Given the description of an element on the screen output the (x, y) to click on. 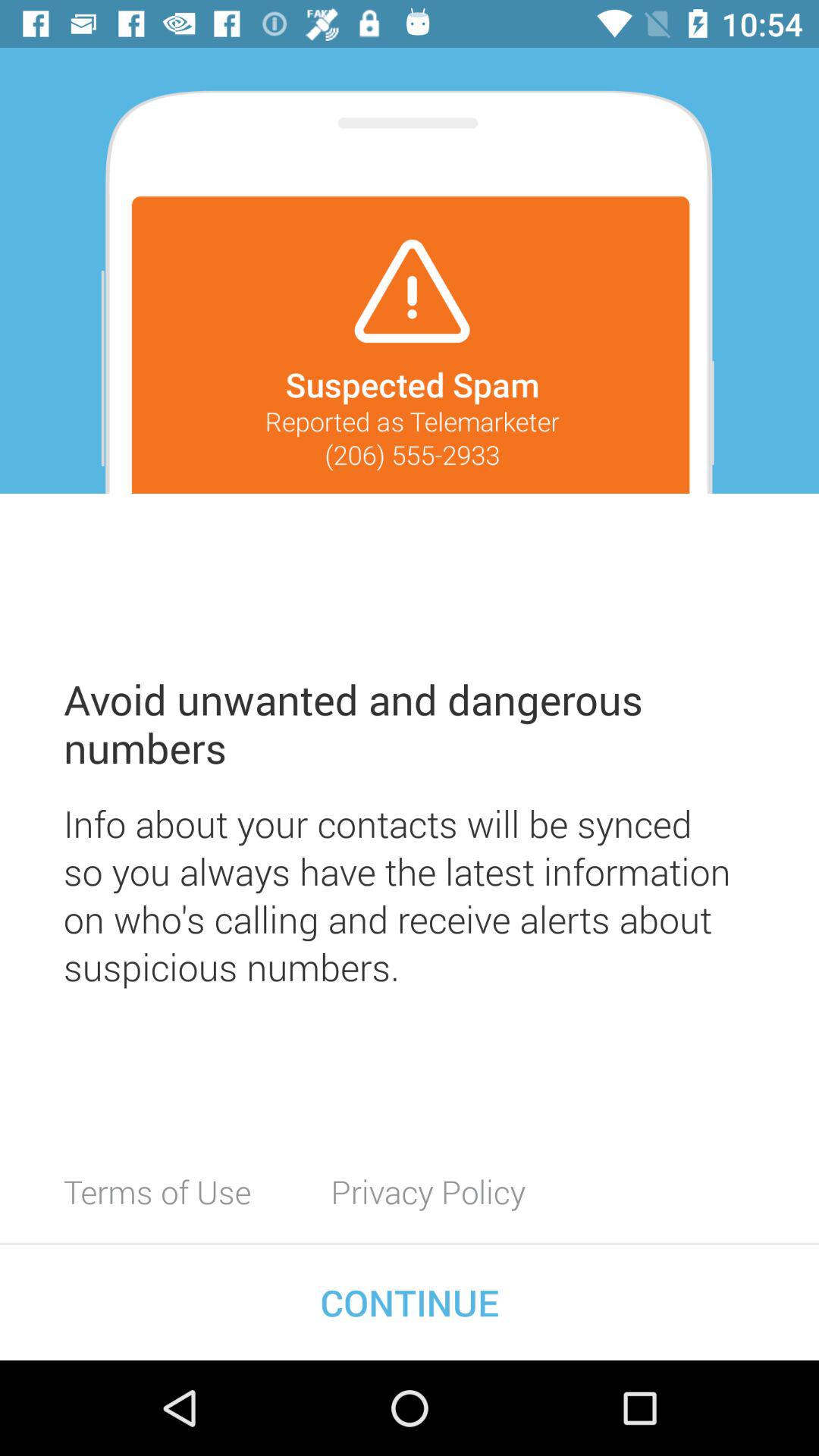
flip to the continue item (409, 1302)
